Given the description of an element on the screen output the (x, y) to click on. 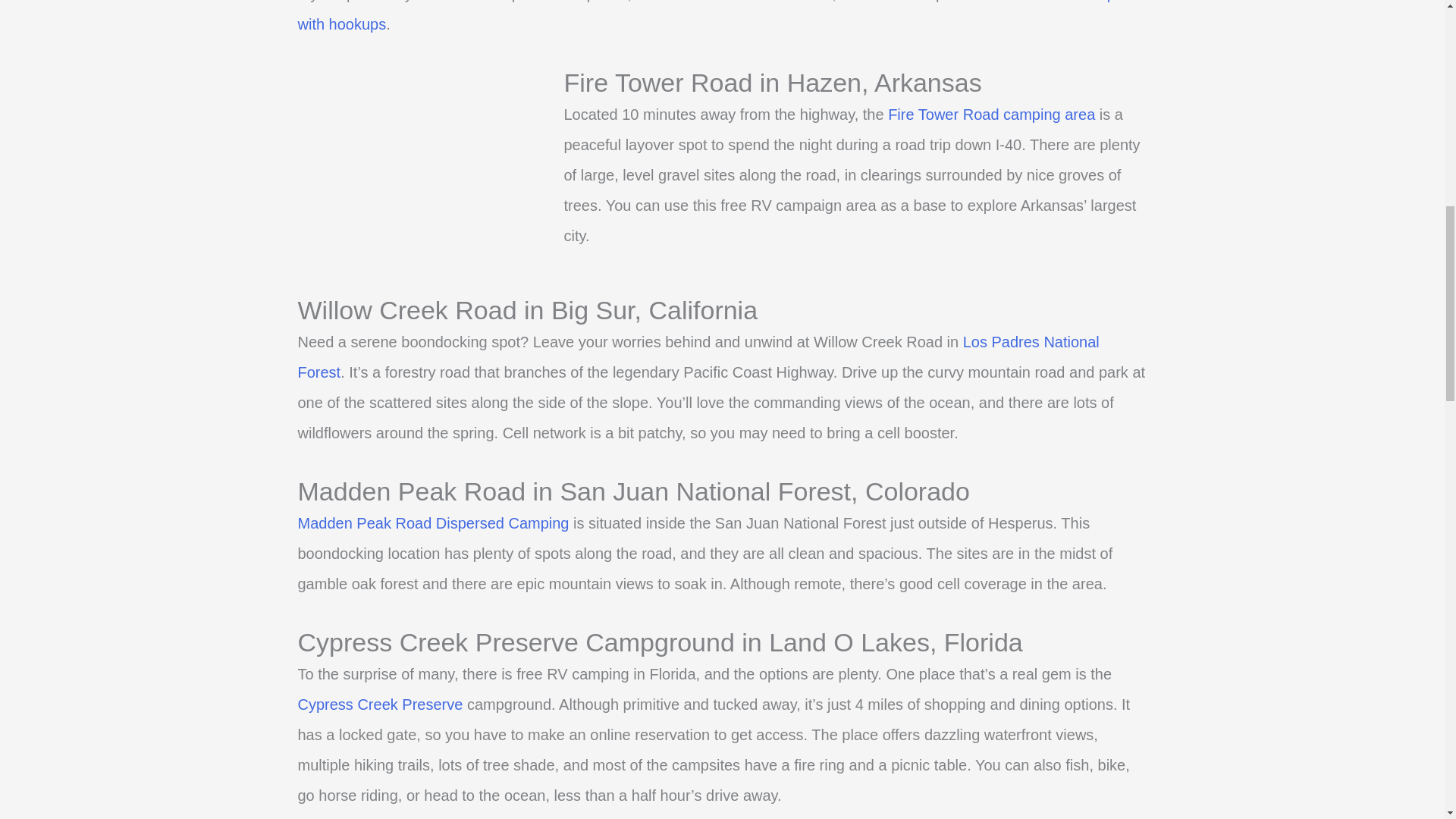
Cypress Creek Preserve (380, 704)
Los Padres National Forest (698, 356)
Madden Peak Road Dispersed Camping (433, 523)
Fire Tower Road camping area (991, 114)
best free campsites with hookups (721, 16)
